Given the description of an element on the screen output the (x, y) to click on. 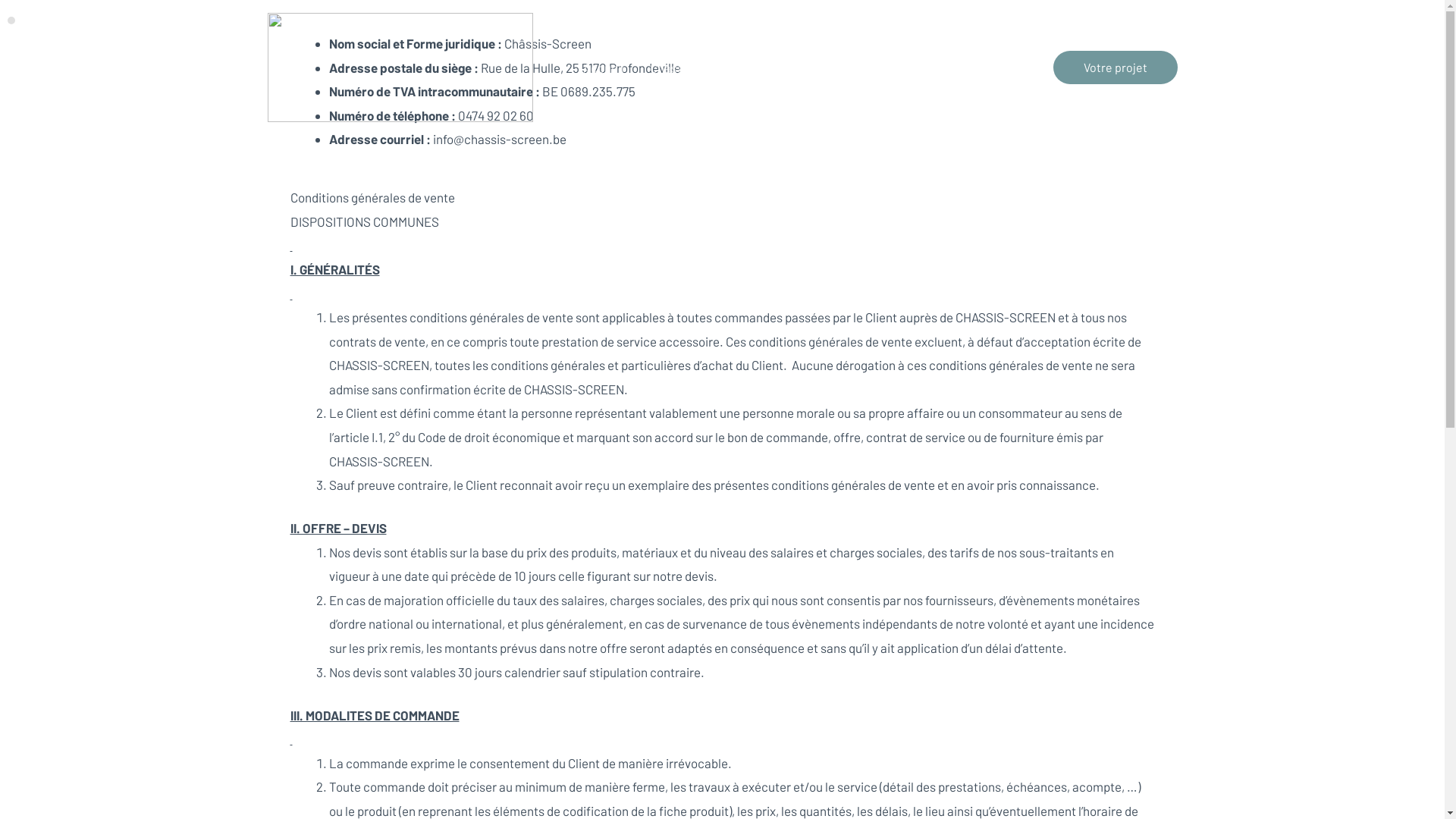
Protection solaire Element type: text (818, 67)
Votre projet Element type: text (1114, 67)
Outdoor Element type: text (914, 67)
Accueil Element type: text (603, 67)
